Given the description of an element on the screen output the (x, y) to click on. 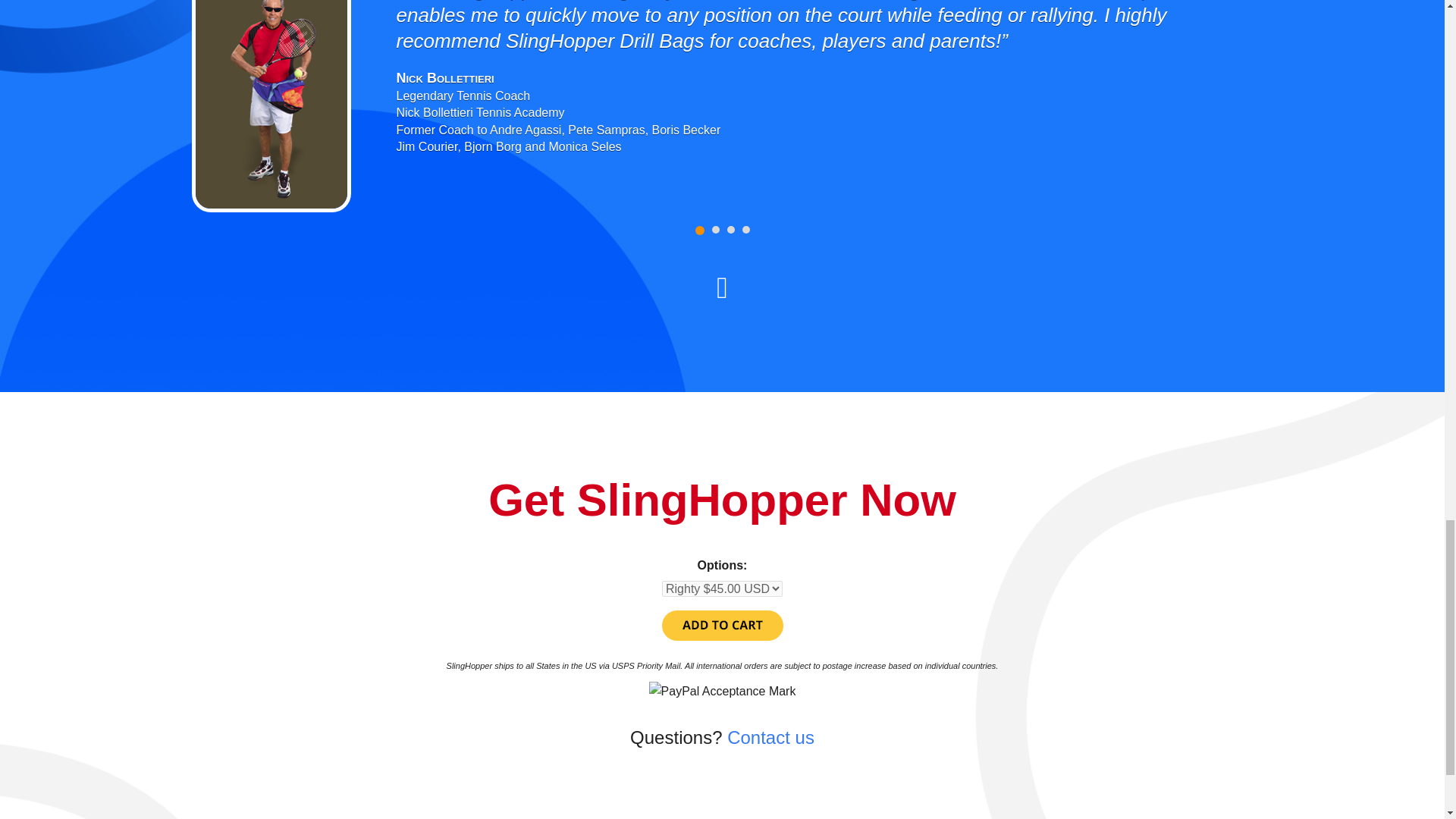
3 (729, 229)
1 (698, 230)
How PayPal Works (722, 689)
4 (745, 229)
2 (715, 229)
Contact us (769, 737)
